Given the description of an element on the screen output the (x, y) to click on. 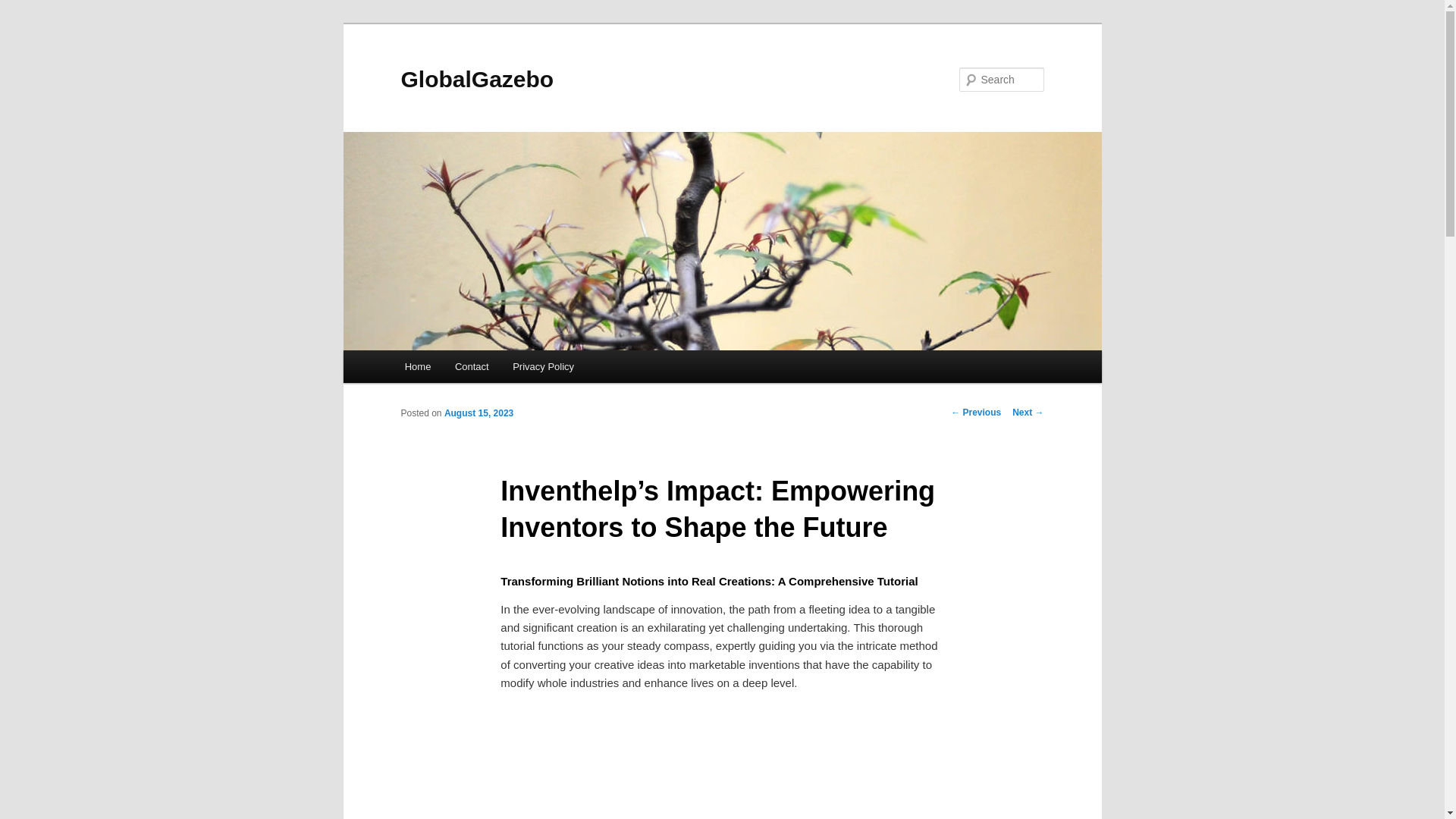
Home (417, 366)
Search (24, 8)
GlobalGazebo (476, 78)
Women Who Made Invention History - InventHelp (721, 755)
August 15, 2023 (478, 412)
7:19 pm (478, 412)
Privacy Policy (542, 366)
Contact (471, 366)
